Given the description of an element on the screen output the (x, y) to click on. 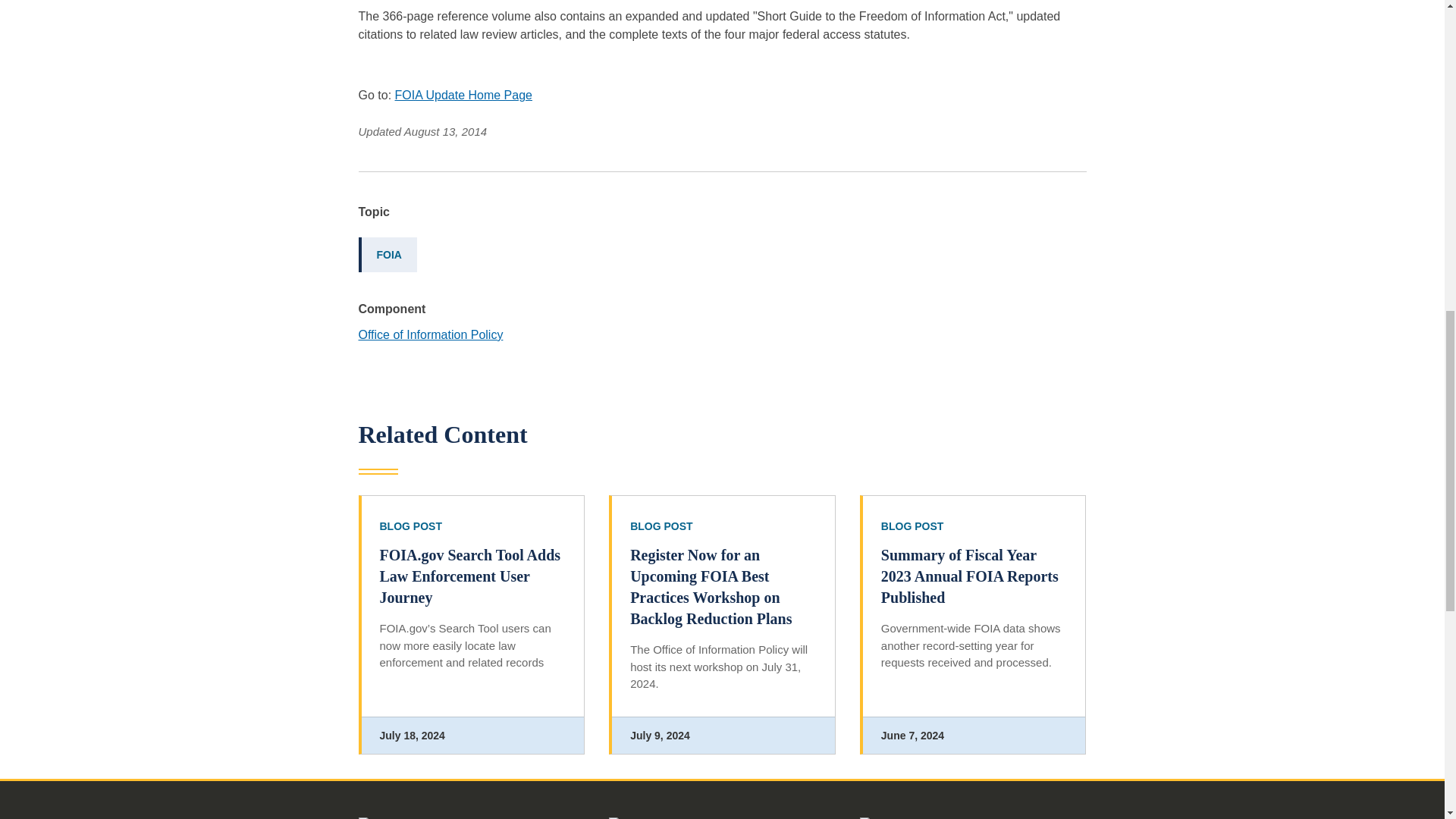
FOIA Update Home Page (463, 94)
Office of Information Policy (430, 334)
